Given the description of an element on the screen output the (x, y) to click on. 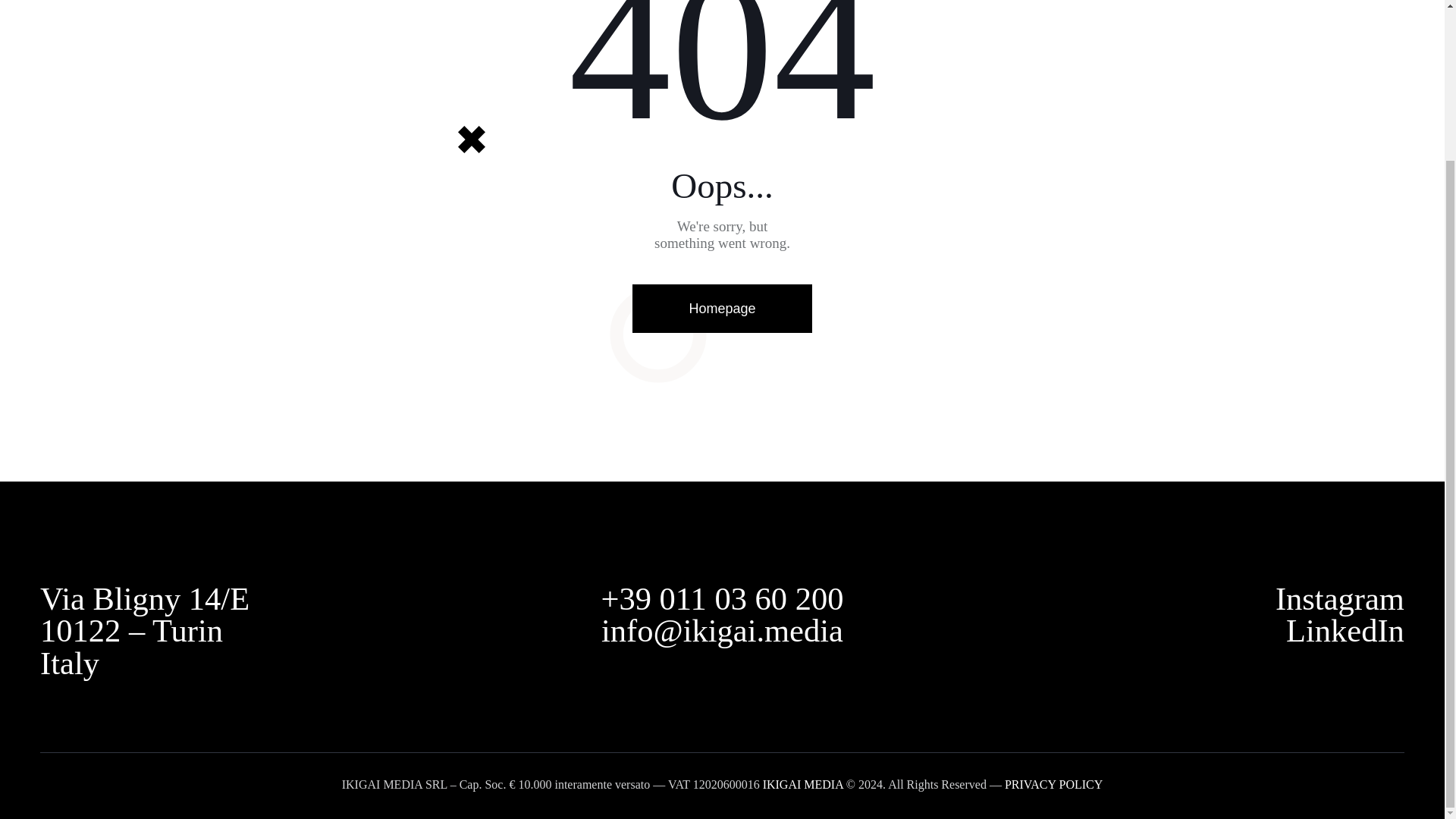
PRIVACY POLICY (1053, 784)
Instagram (1340, 598)
Homepage (720, 308)
IKIGAI MEDIA (802, 784)
LinkedIn (1345, 630)
